Given the description of an element on the screen output the (x, y) to click on. 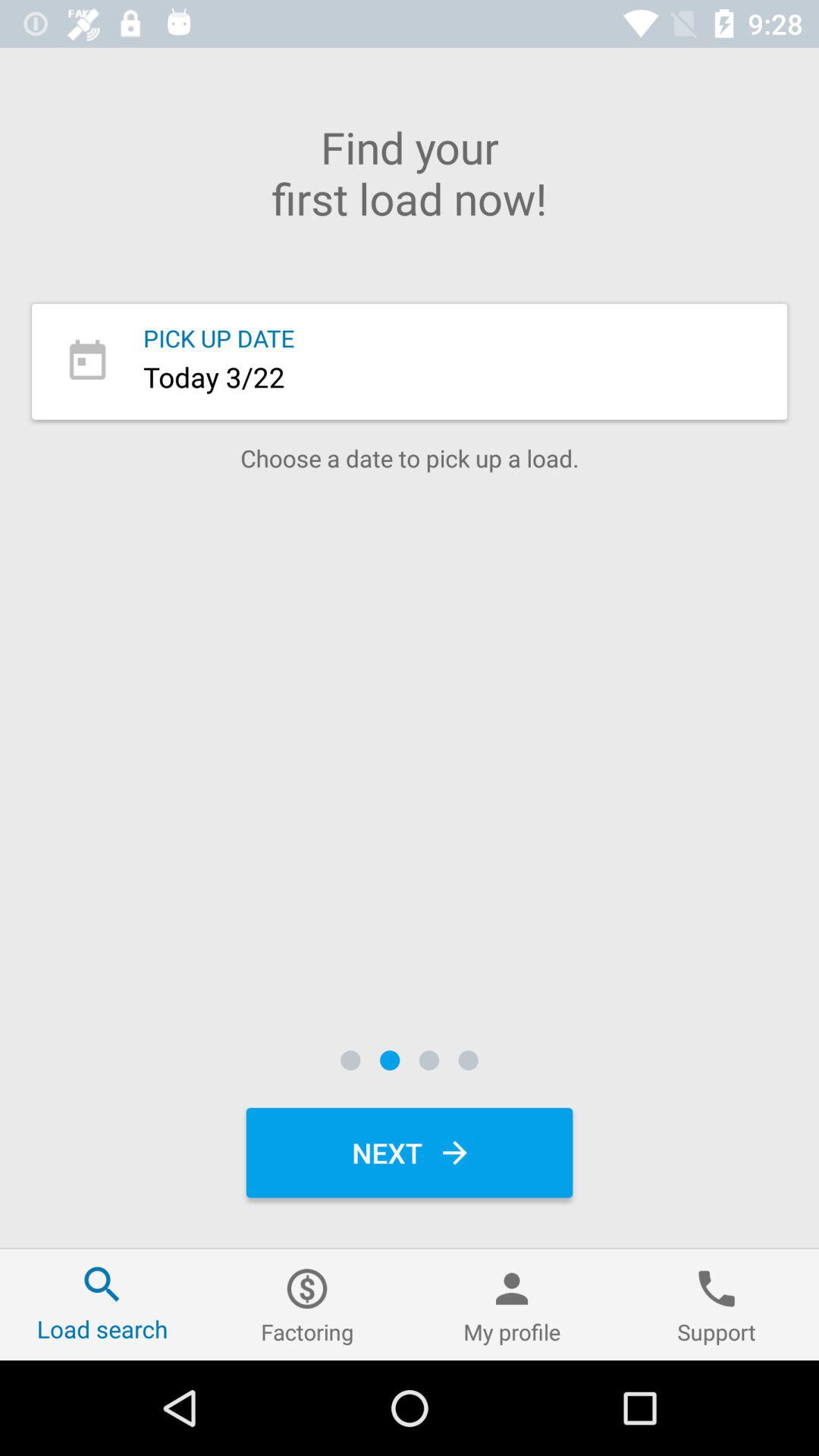
choose the next     icon (409, 1152)
